Given the description of an element on the screen output the (x, y) to click on. 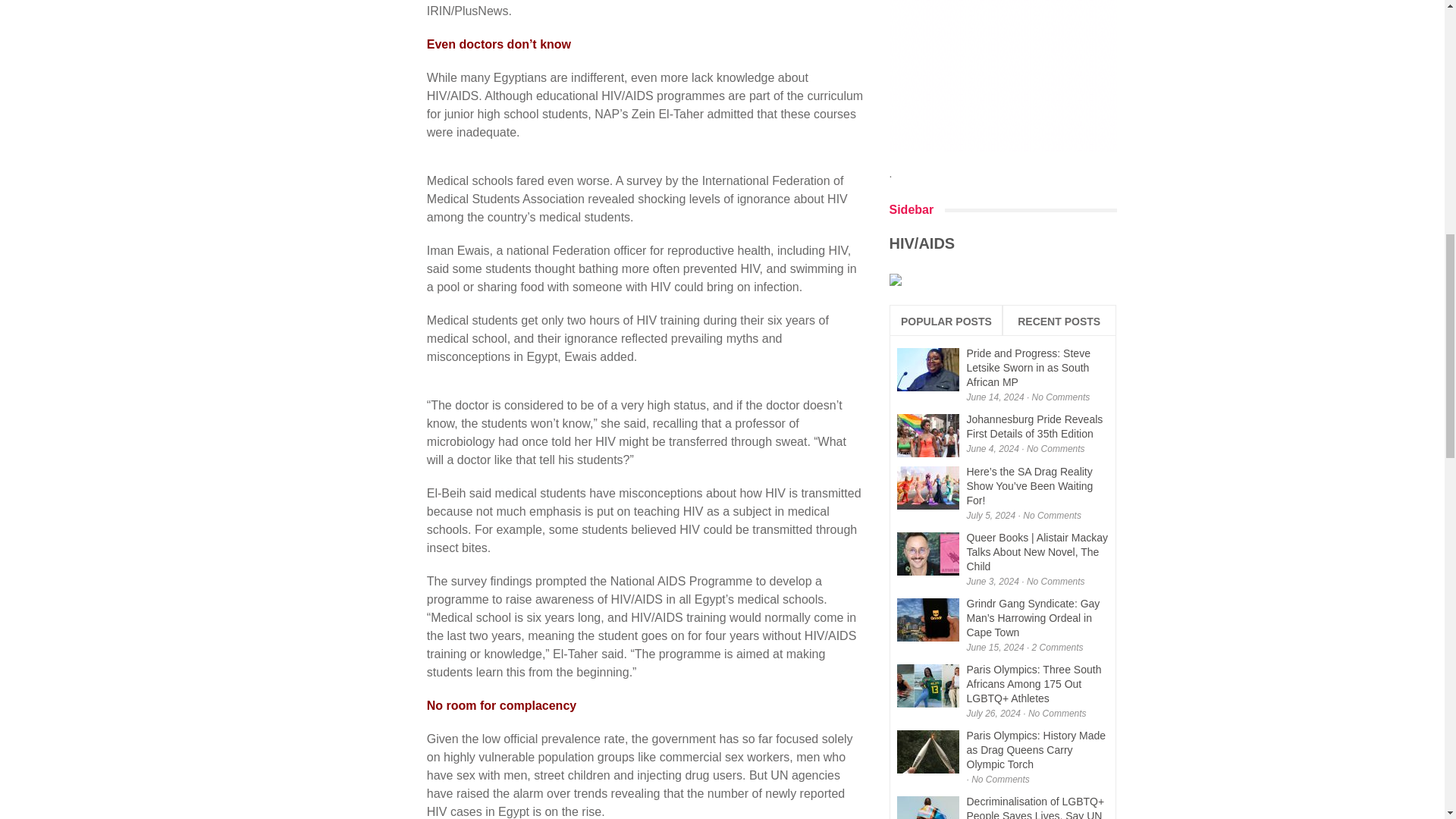
POPULAR POSTS (945, 321)
3rd party ad content (1002, 75)
RECENT POSTS (1058, 321)
